Given the description of an element on the screen output the (x, y) to click on. 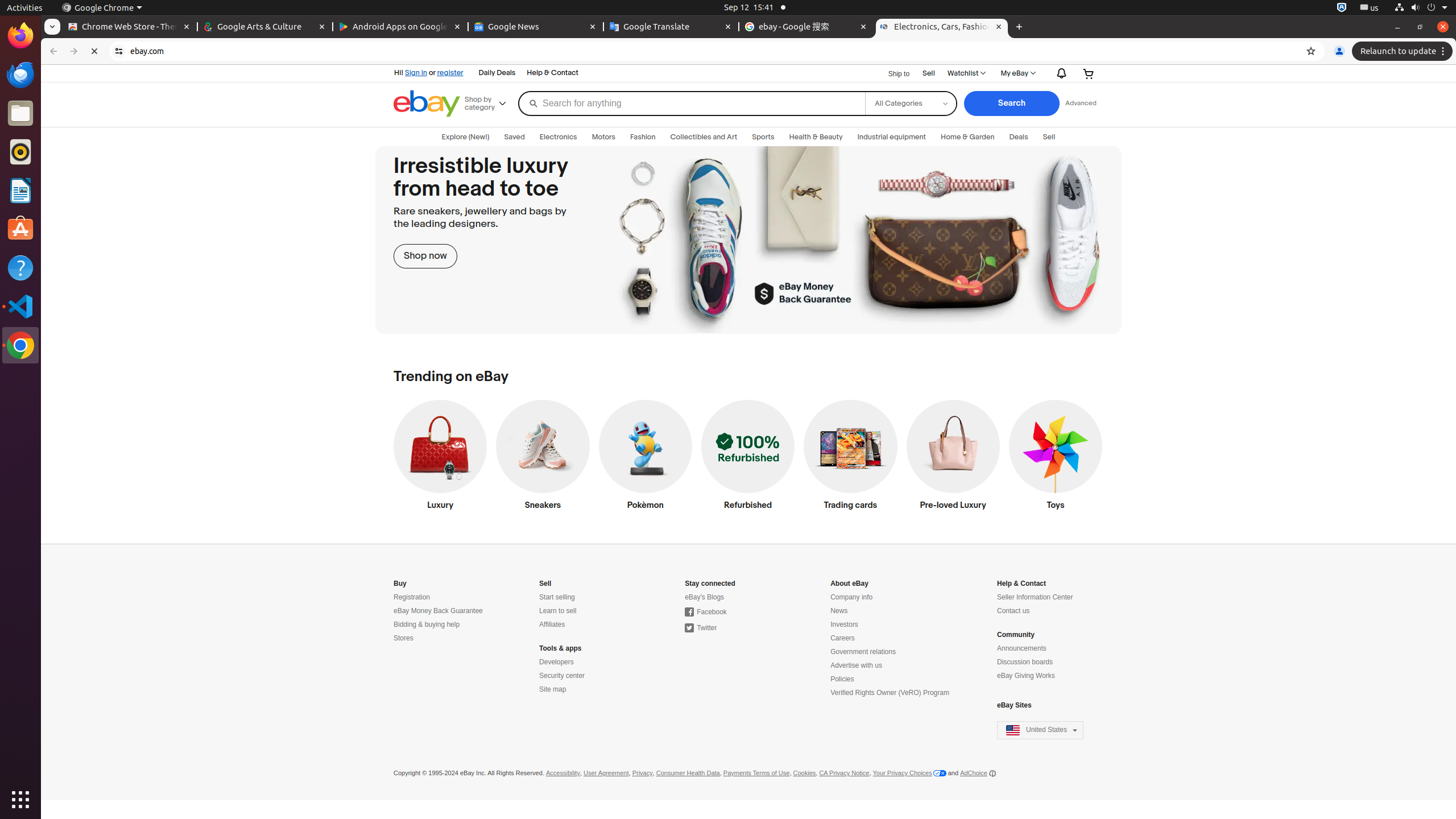
Sell Element type: link (928, 72)
LibreOffice Writer Element type: push-button (20, 190)
Seller Information Center Element type: link (1035, 597)
Electronics, Cars, Fashion, Collectibles & More | eBay - Memory usage - 16.5 MB Element type: page-tab (941, 26)
Ubuntu Software Element type: push-button (20, 229)
